Given the description of an element on the screen output the (x, y) to click on. 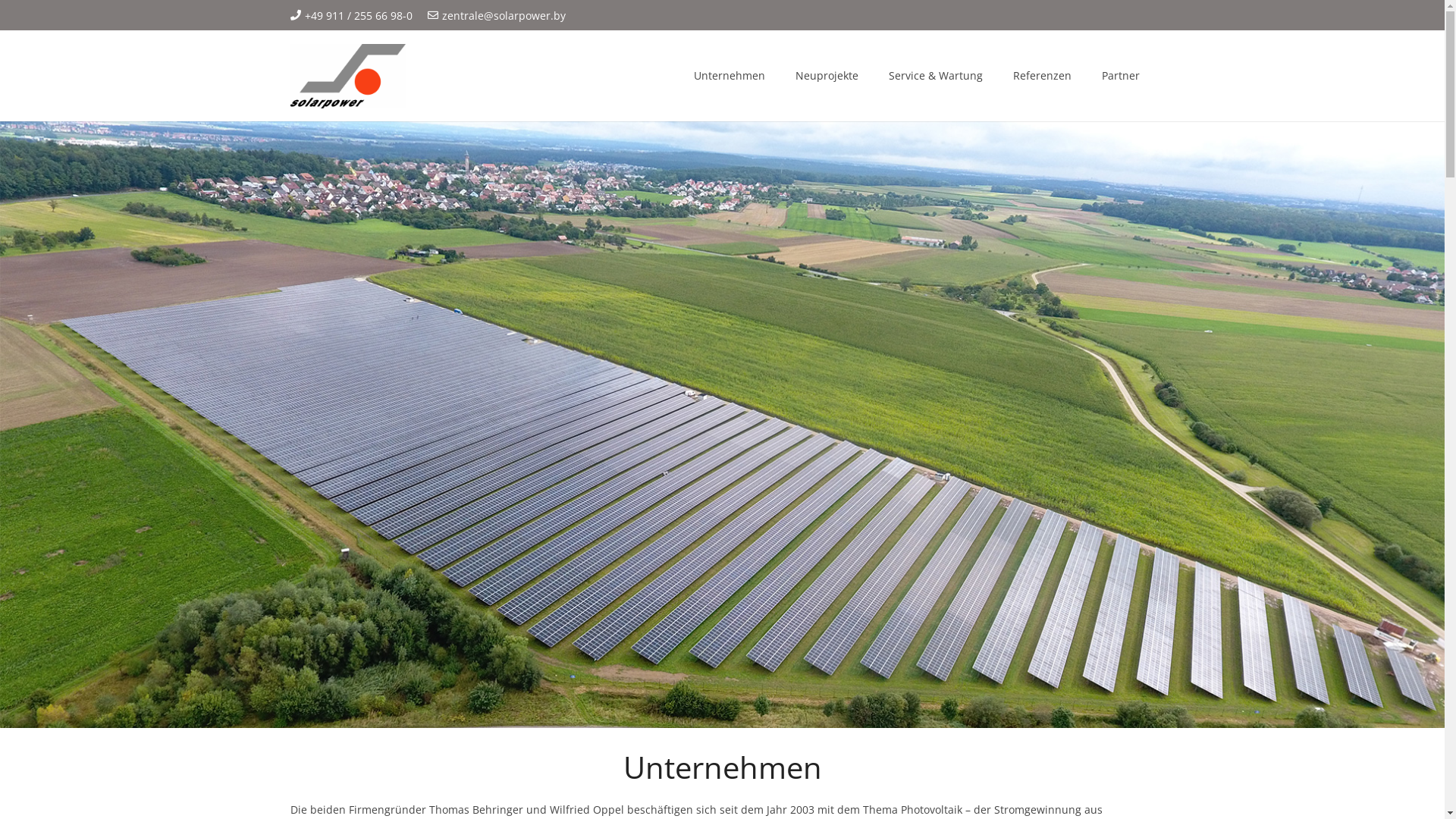
Partner Element type: text (1120, 75)
Referenzen Element type: text (1041, 75)
+49 911 / 255 66 98-0 Element type: text (350, 14)
Unternehmen Element type: text (729, 75)
Service & Wartung Element type: text (935, 75)
Neuprojekte Element type: text (826, 75)
zentrale@solarpower.by Element type: text (496, 14)
